Given the description of an element on the screen output the (x, y) to click on. 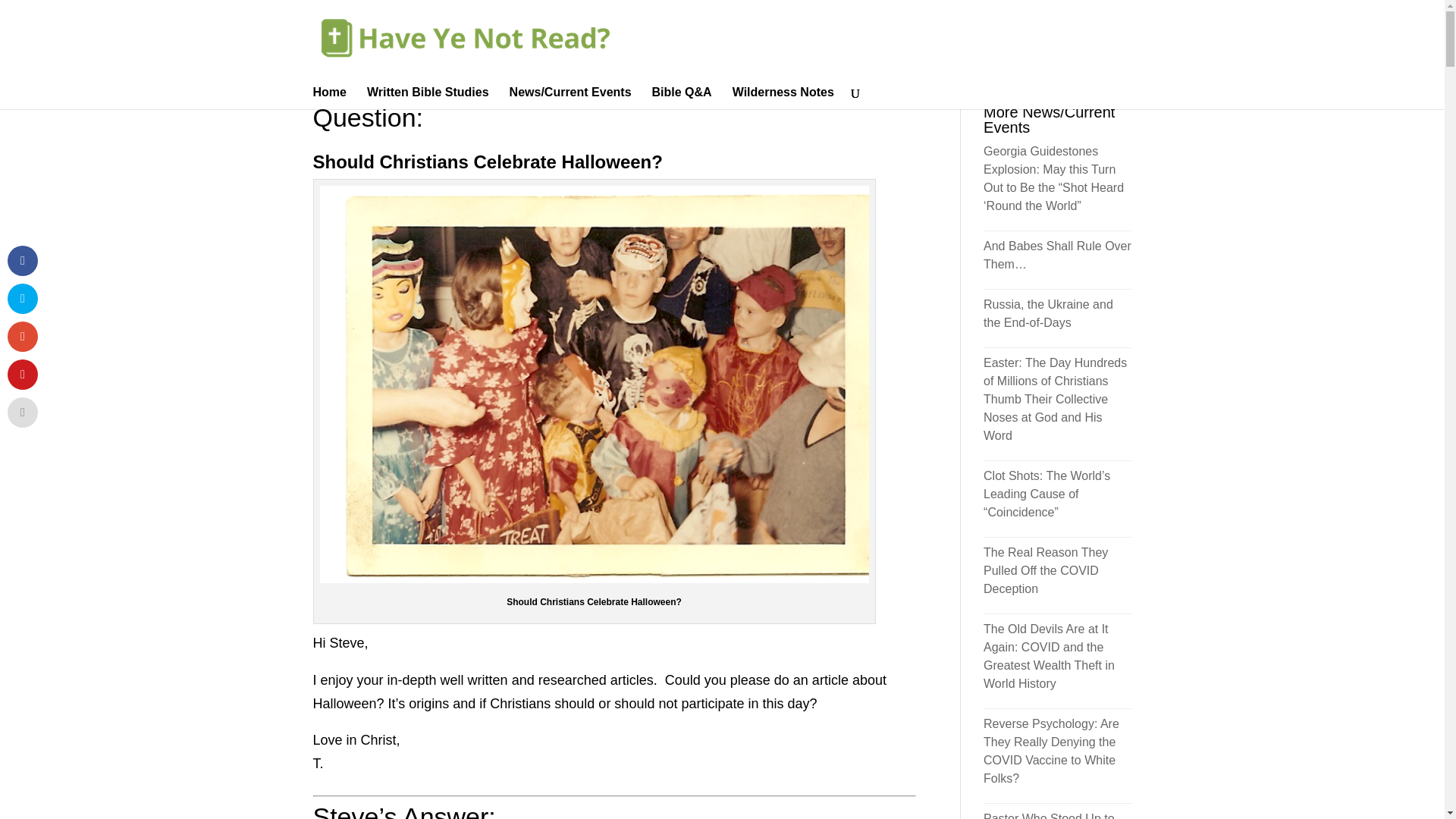
Wilderness Notes (783, 97)
Russia, the Ukraine and the End-of-Days (1048, 313)
The Real Reason They Pulled Off the COVID Deception (1046, 570)
Written Bible Studies (427, 97)
Home (329, 97)
